Given the description of an element on the screen output the (x, y) to click on. 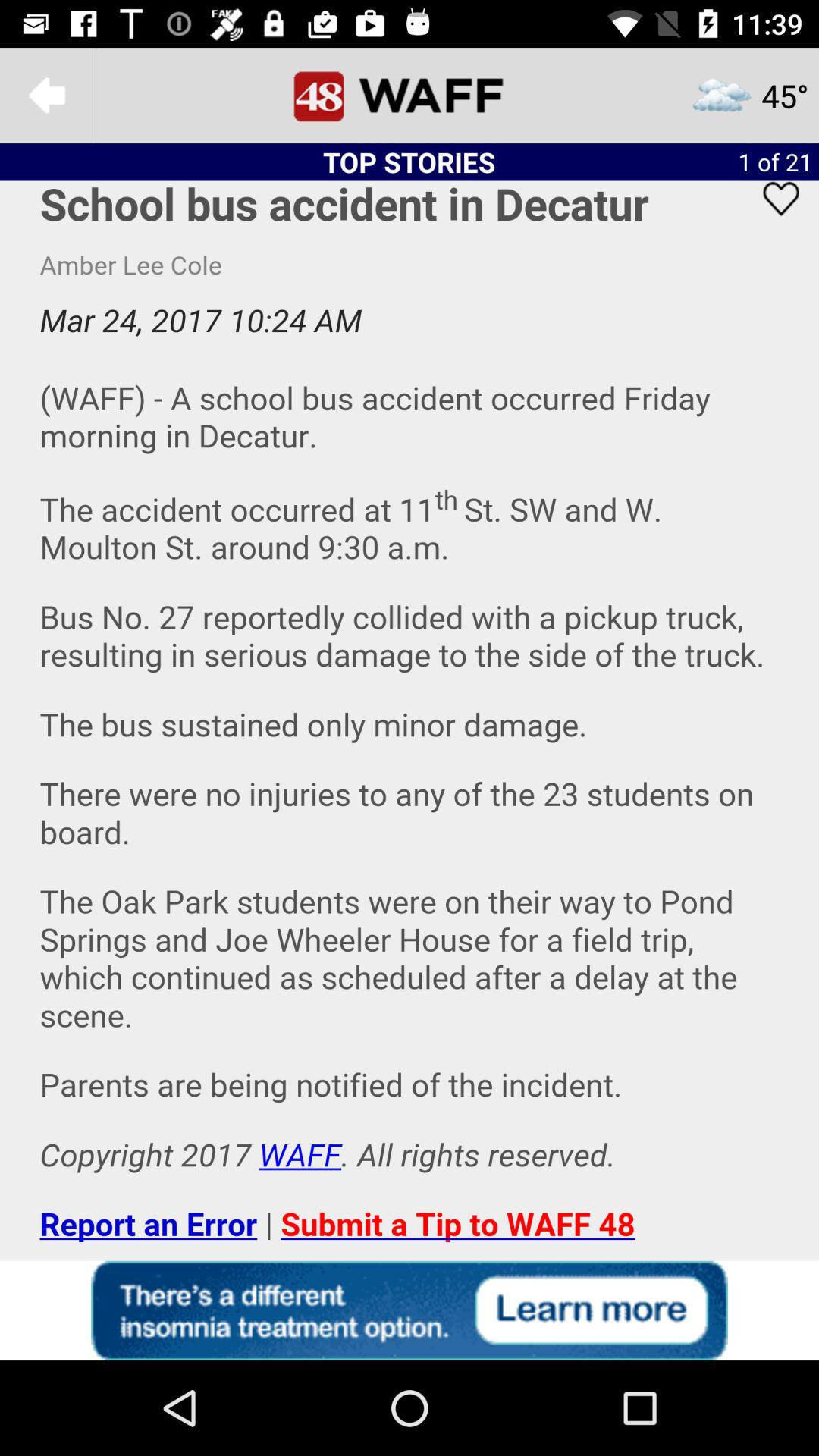
48 waff homepage (409, 95)
